Given the description of an element on the screen output the (x, y) to click on. 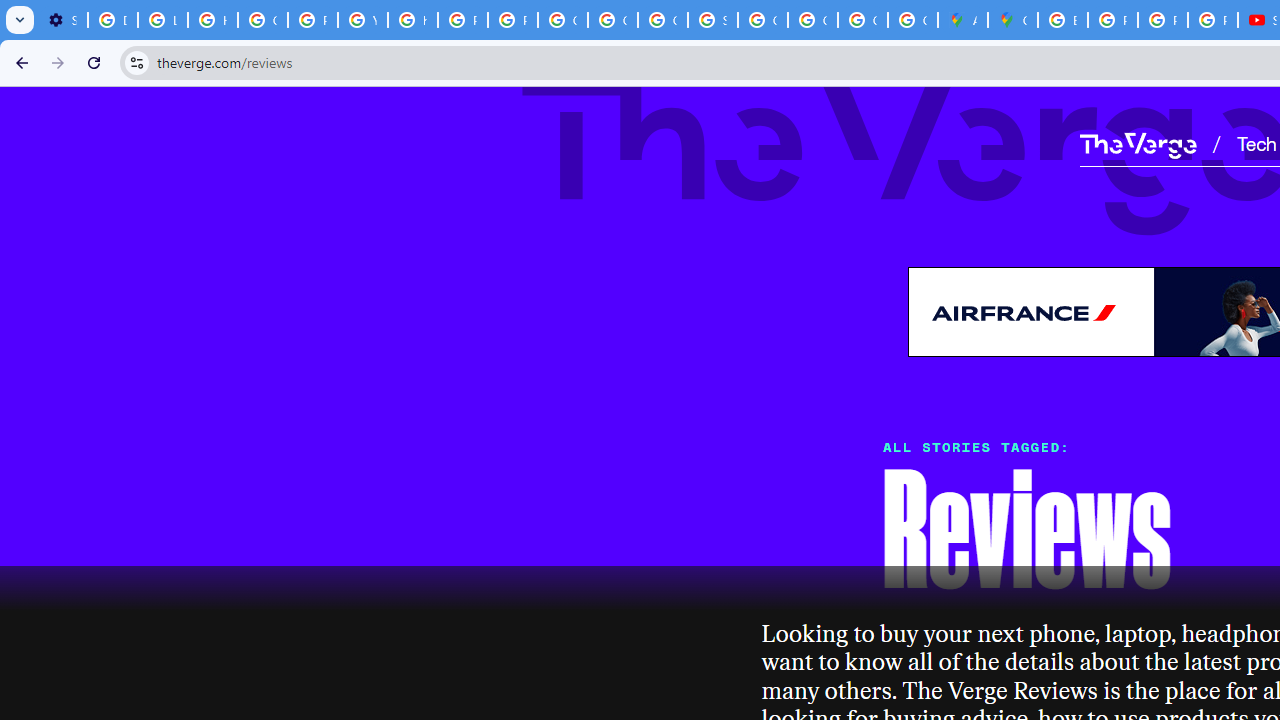
Privacy Help Center - Policies Help (1162, 20)
The Verge homepage The Verge (1137, 142)
Tech (1256, 142)
Learn how to find your photos - Google Photos Help (163, 20)
Settings - Customize profile (62, 20)
